Given the description of an element on the screen output the (x, y) to click on. 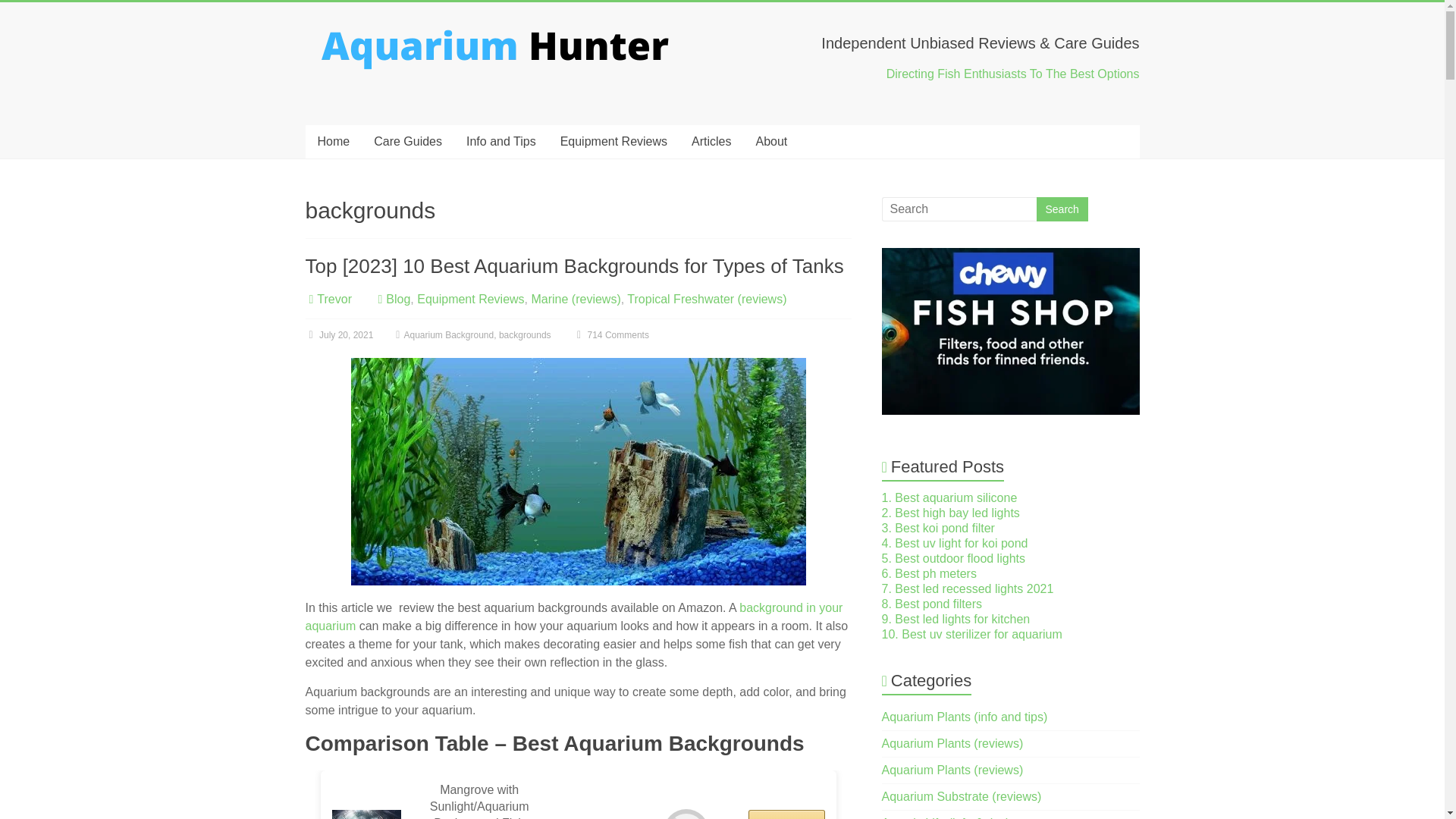
Care Guides (407, 141)
Trevor (334, 298)
Aquarium Hunter (363, 59)
1:10 am (338, 335)
Directing Fish Enthusiasts To The Best Options (1013, 73)
Home (332, 141)
Search (1061, 209)
Aquarium Hunter (363, 59)
